Given the description of an element on the screen output the (x, y) to click on. 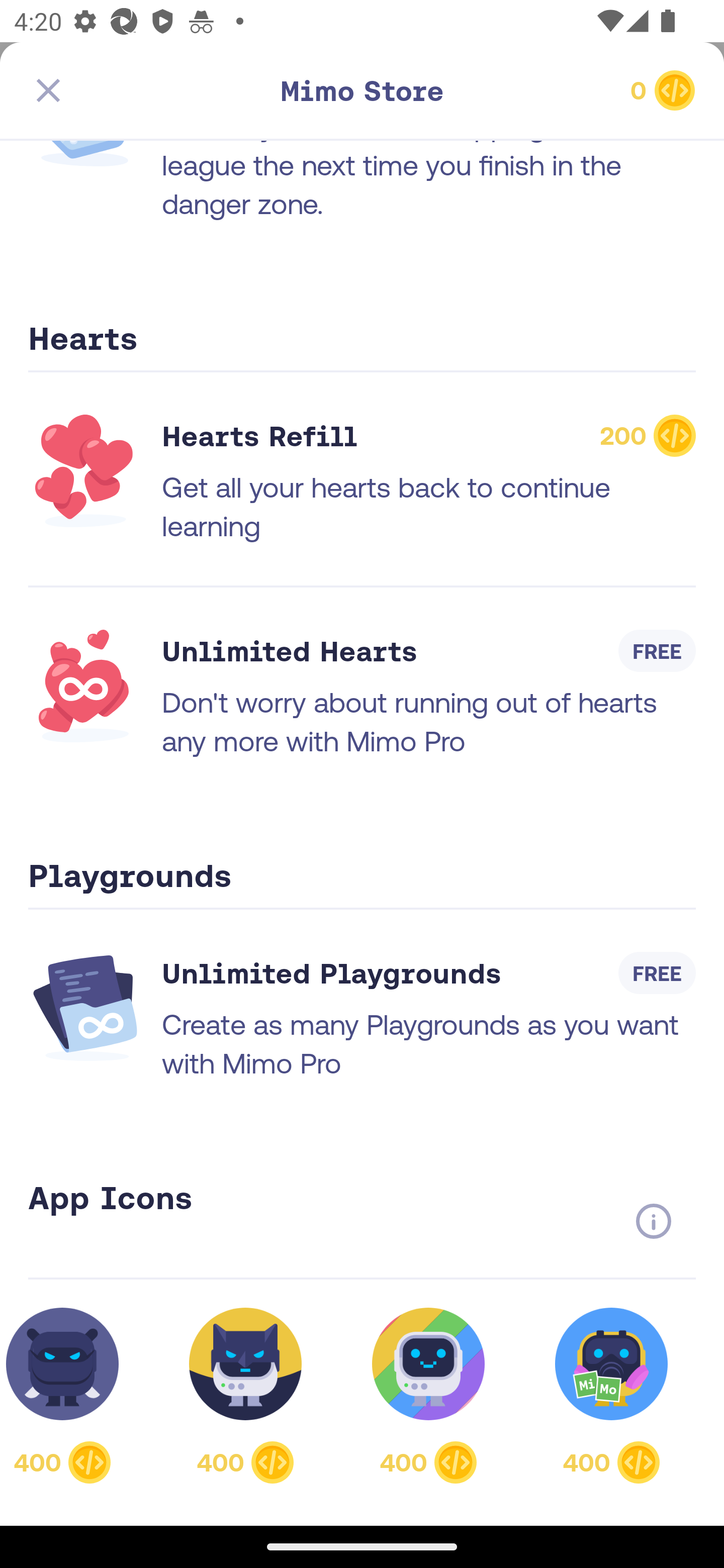
Path Toolbar Image 4 (134, 90)
Path Toolbar Image 0 (361, 90)
Path Toolbar Image 0 (588, 90)
Info (653, 1221)
Store App Icon 400 Store Coins Icon (73, 1395)
Store App Icon 400 Store Coins Icon (245, 1395)
Store App Icon 400 Store Coins Icon (427, 1395)
Store App Icon 400 Store Coins Icon (611, 1395)
